Given the description of an element on the screen output the (x, y) to click on. 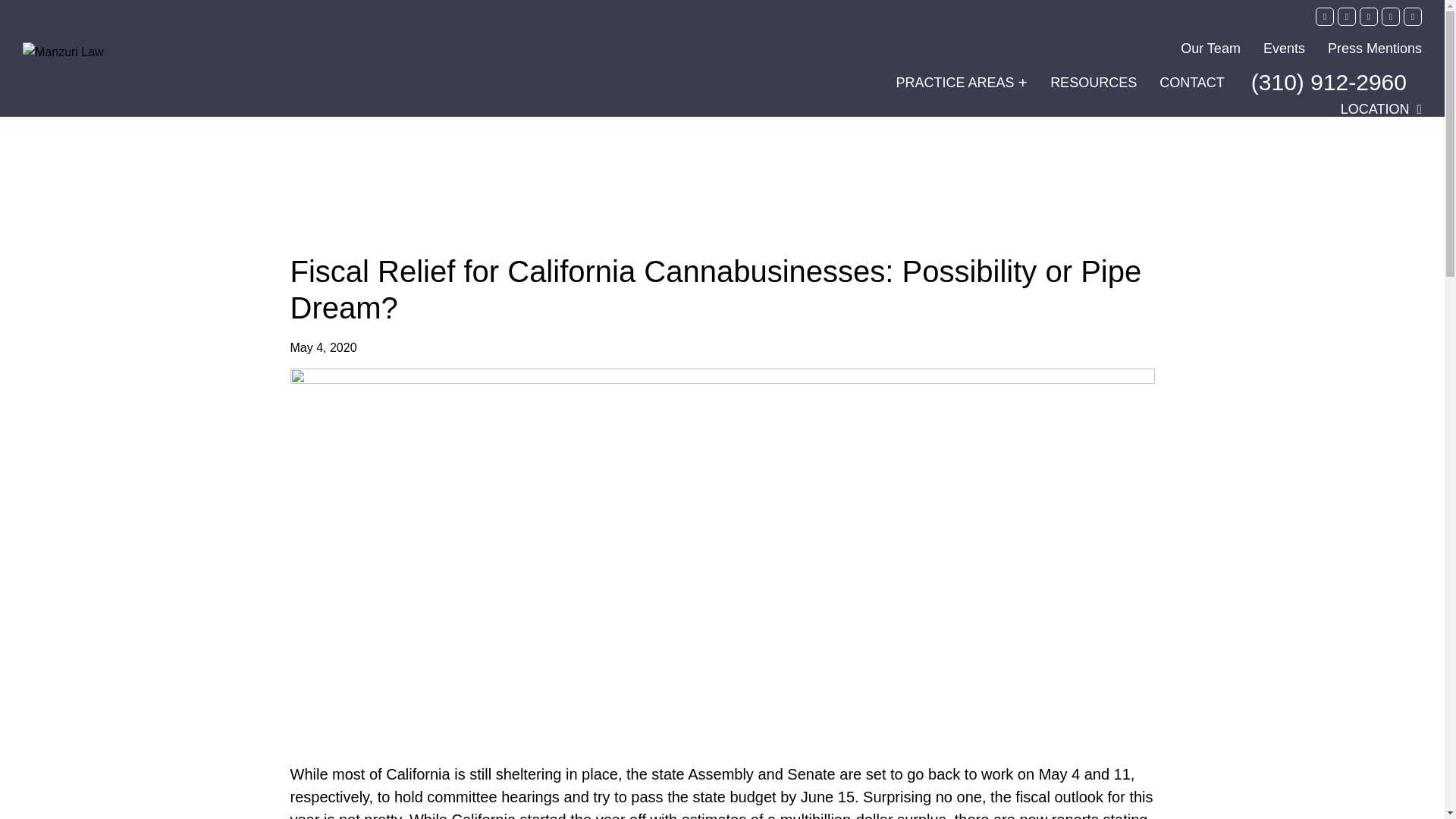
CONTACT (1191, 82)
LOCATION (1381, 109)
Events (1283, 48)
Press Mentions (1374, 48)
RESOURCES (1093, 82)
PRACTICE AREAS (961, 82)
Our Team (1210, 48)
Open SideMenu (961, 82)
